Given the description of an element on the screen output the (x, y) to click on. 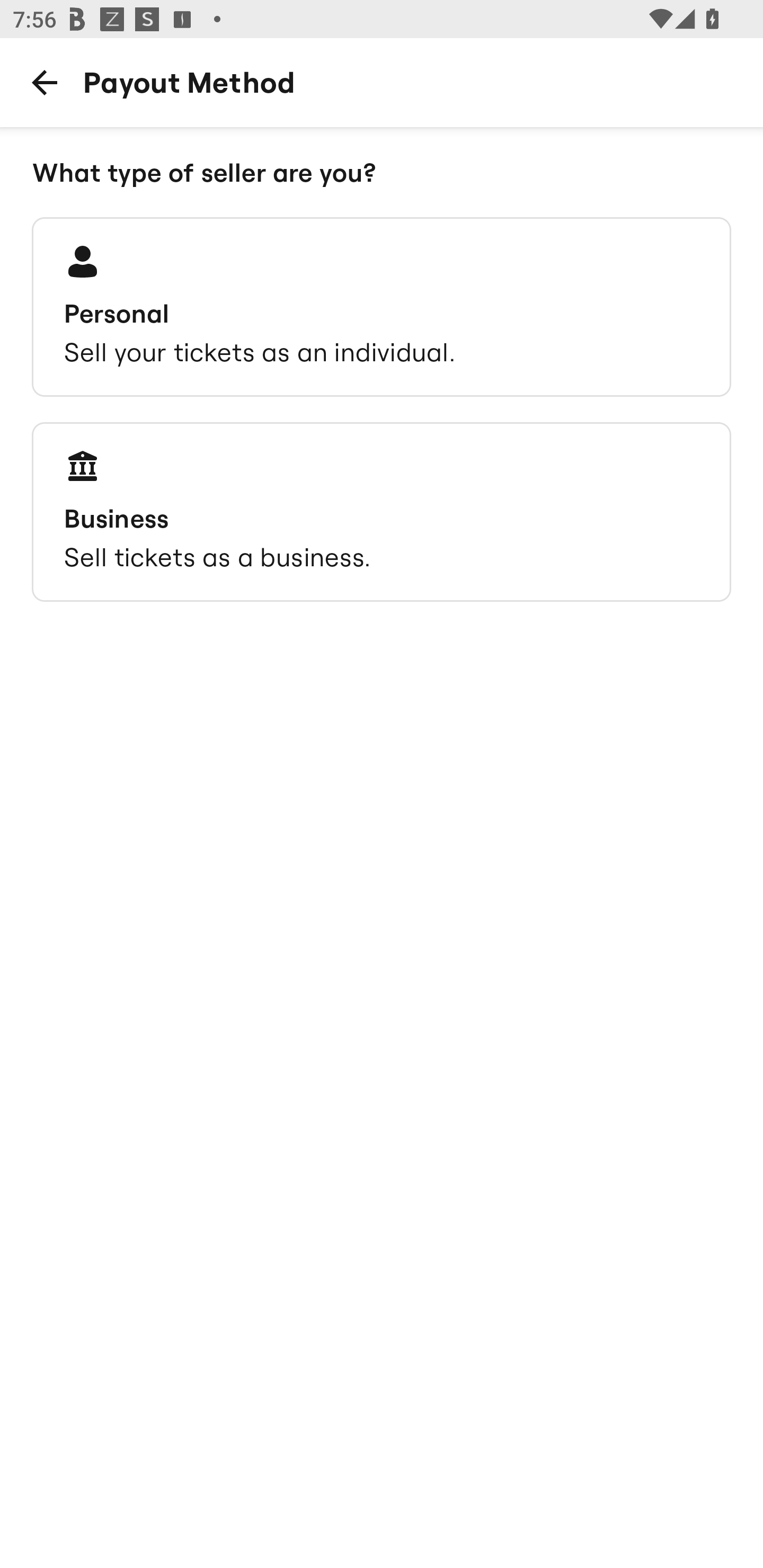
Back (44, 81)
Personal Sell your tickets as an individual. (381, 306)
Business Sell tickets as a business. (381, 511)
